Given the description of an element on the screen output the (x, y) to click on. 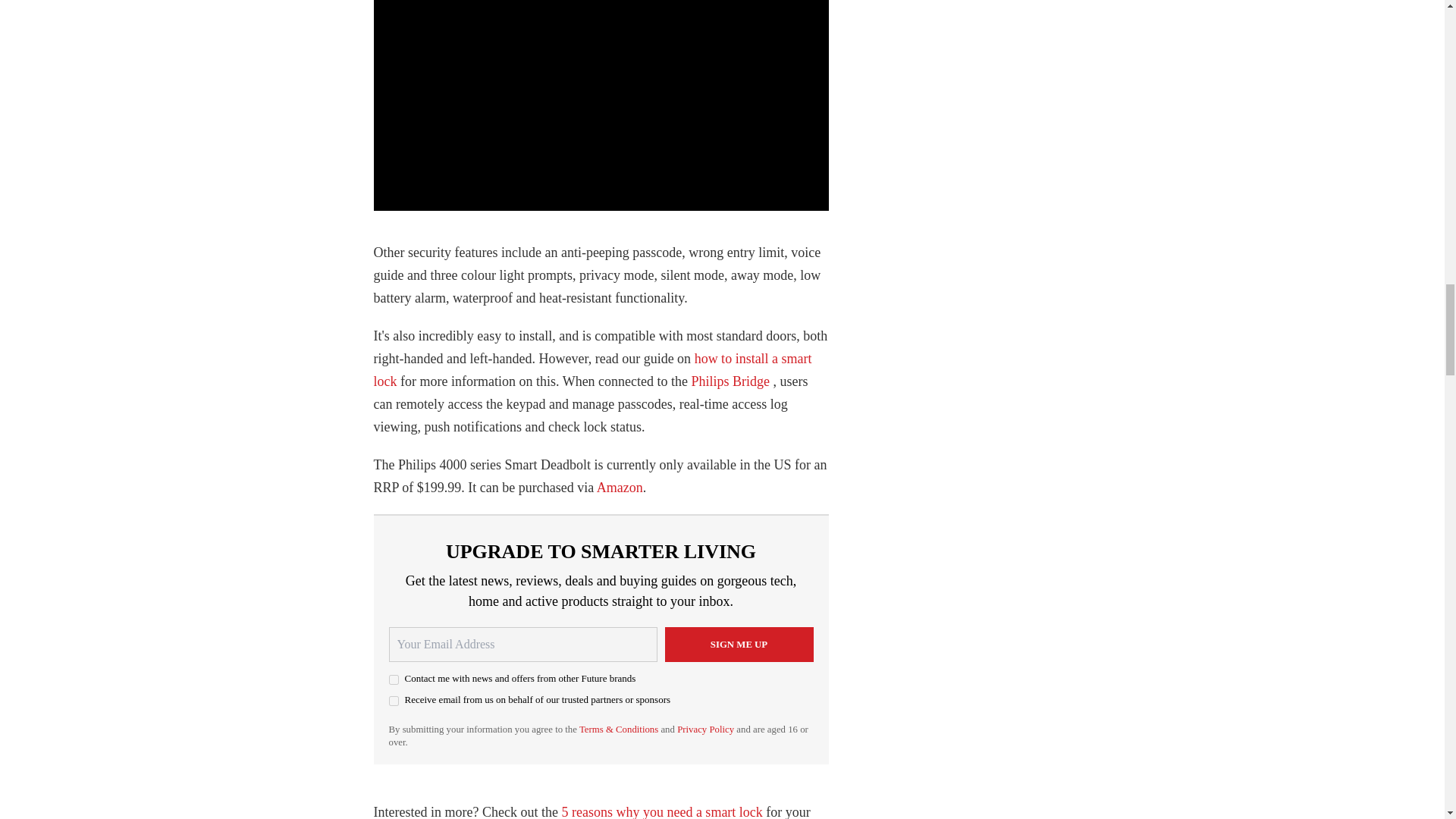
Sign me up (737, 644)
on (392, 700)
on (392, 679)
